Given the description of an element on the screen output the (x, y) to click on. 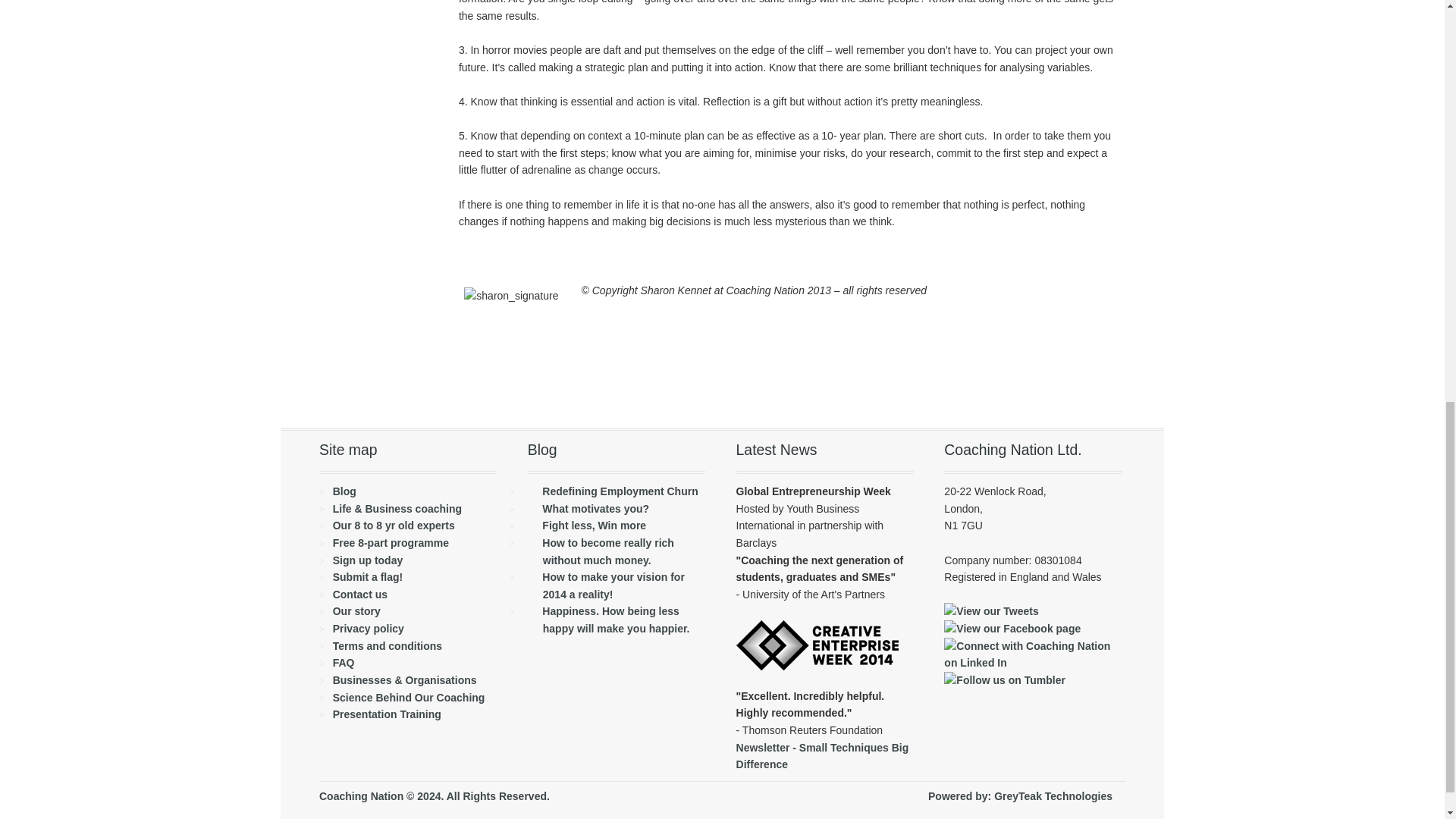
Our story (356, 611)
Follow us on Tumbler (1004, 680)
Free 8-part programme (390, 542)
View our Tweets (990, 611)
Coaching Nation Facebook Page (1011, 628)
Connect with Coaching Nation on Linked In (1032, 662)
Submit a flag! (368, 576)
Contact us (360, 594)
FAQ (344, 662)
Blog (344, 491)
